Given the description of an element on the screen output the (x, y) to click on. 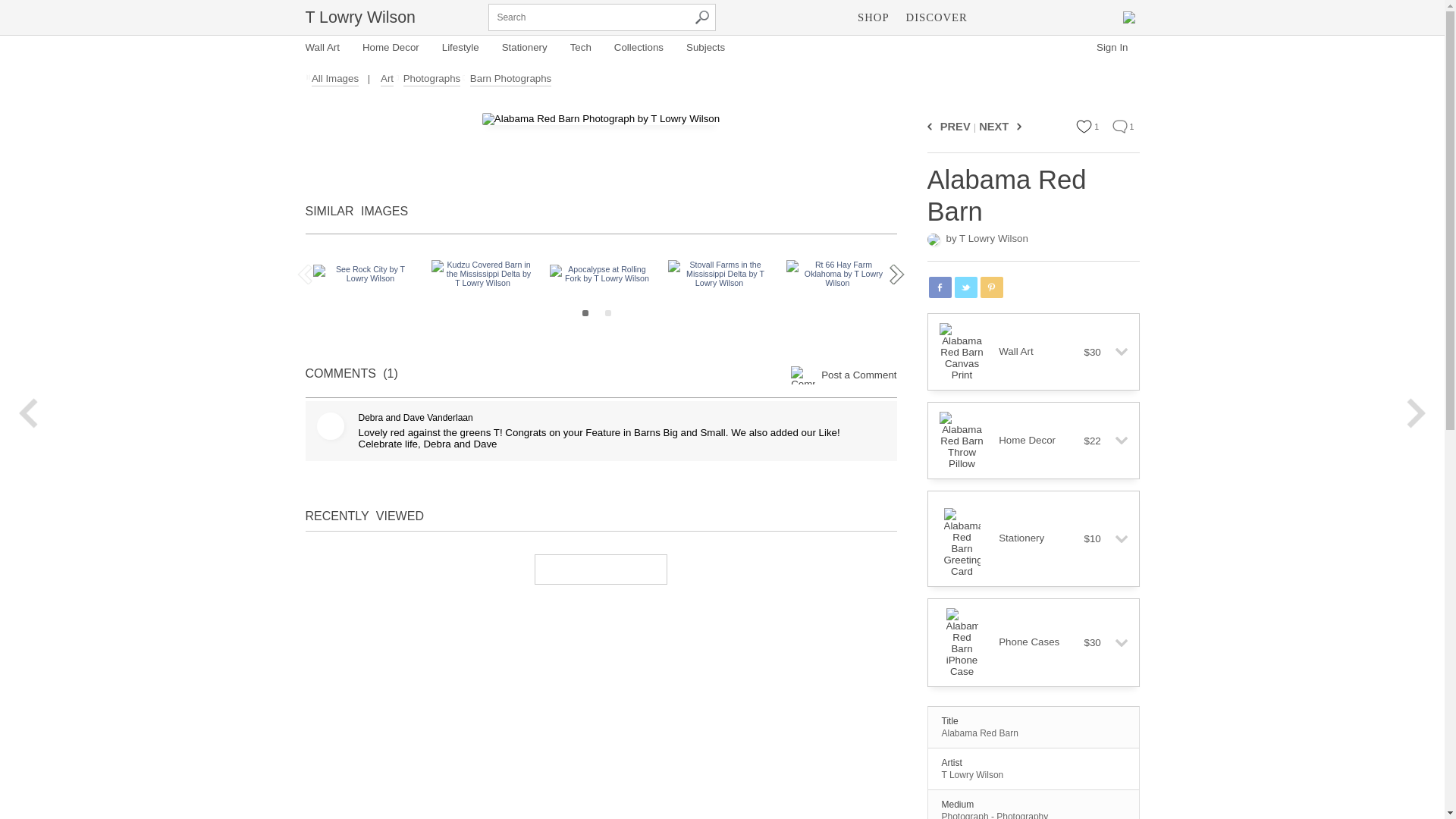
Search (702, 17)
SHOP (872, 16)
Share Product on Pinterest (991, 287)
Share Product on Twitter (964, 287)
Comment (1119, 126)
Favorite (1083, 126)
DISCOVER (936, 16)
Alabama Red Barn  Photograph by T Lowry Wilson (600, 119)
Previous Image (931, 126)
Share Product on Facebook (939, 287)
